Given the description of an element on the screen output the (x, y) to click on. 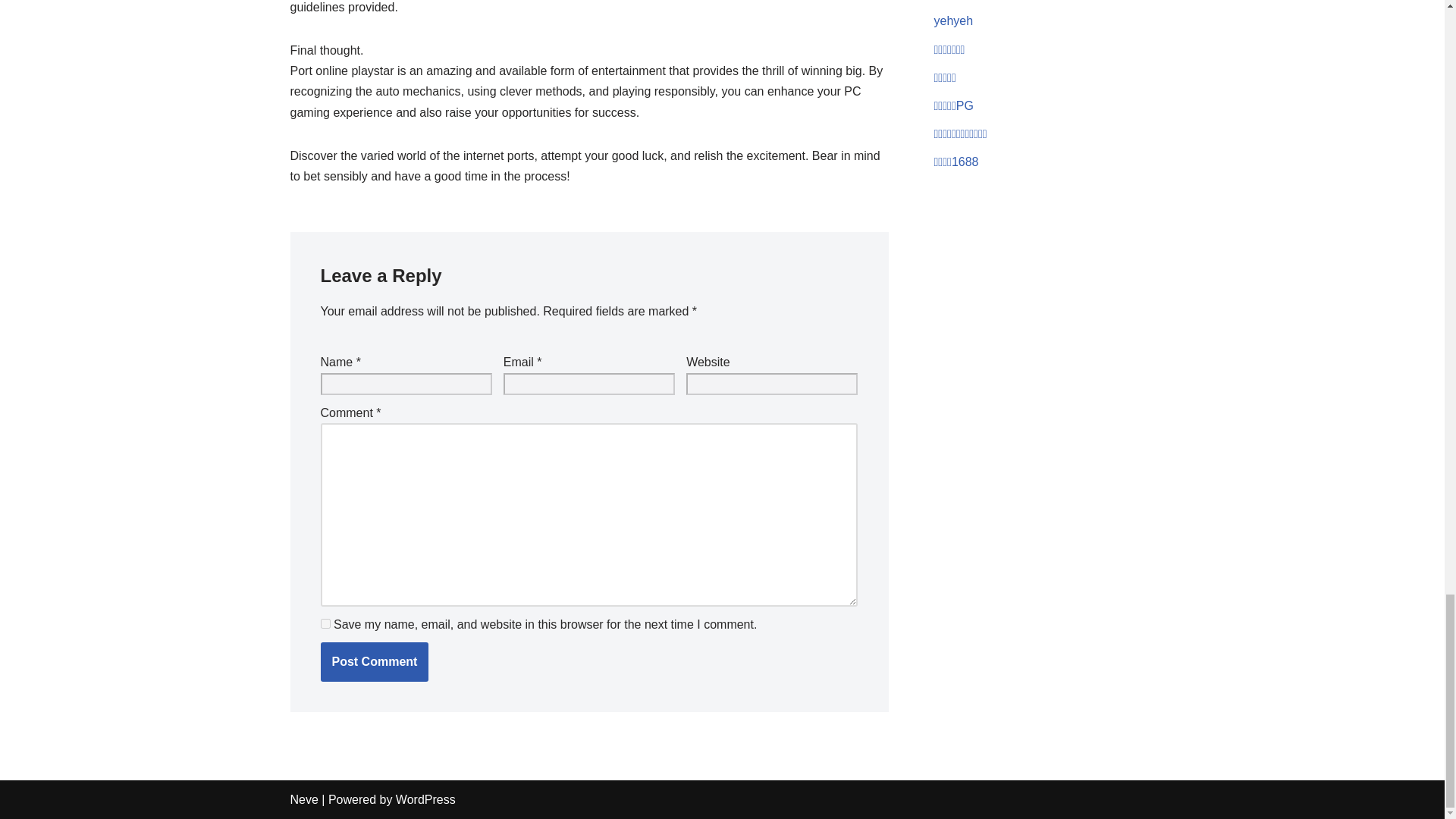
yes (325, 623)
Post Comment (374, 661)
Post Comment (374, 661)
